Given the description of an element on the screen output the (x, y) to click on. 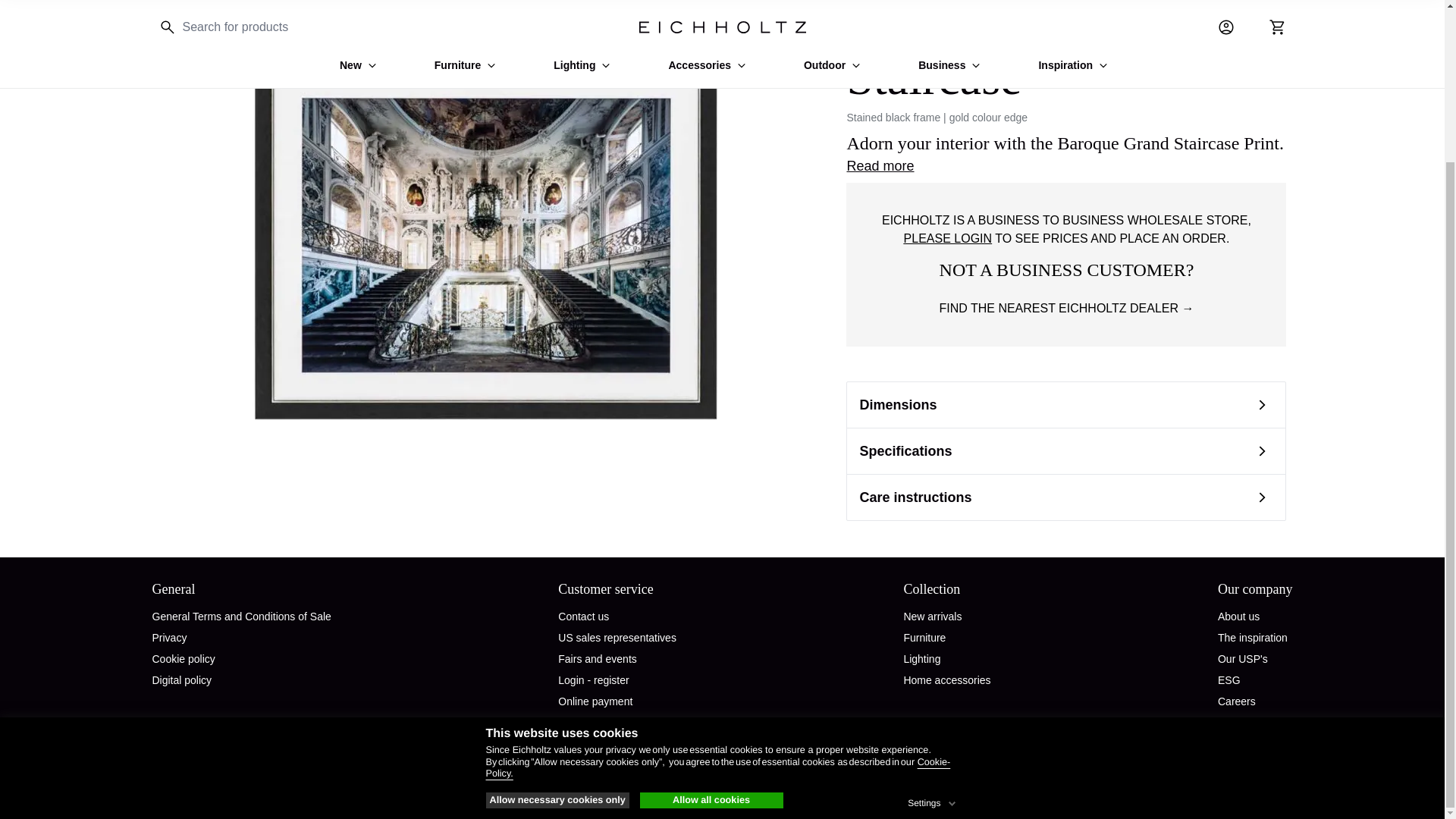
Allow all cookies (711, 609)
Allow necessary cookies only (556, 609)
Cookie- Policy. (717, 576)
Settings (932, 609)
